Given the description of an element on the screen output the (x, y) to click on. 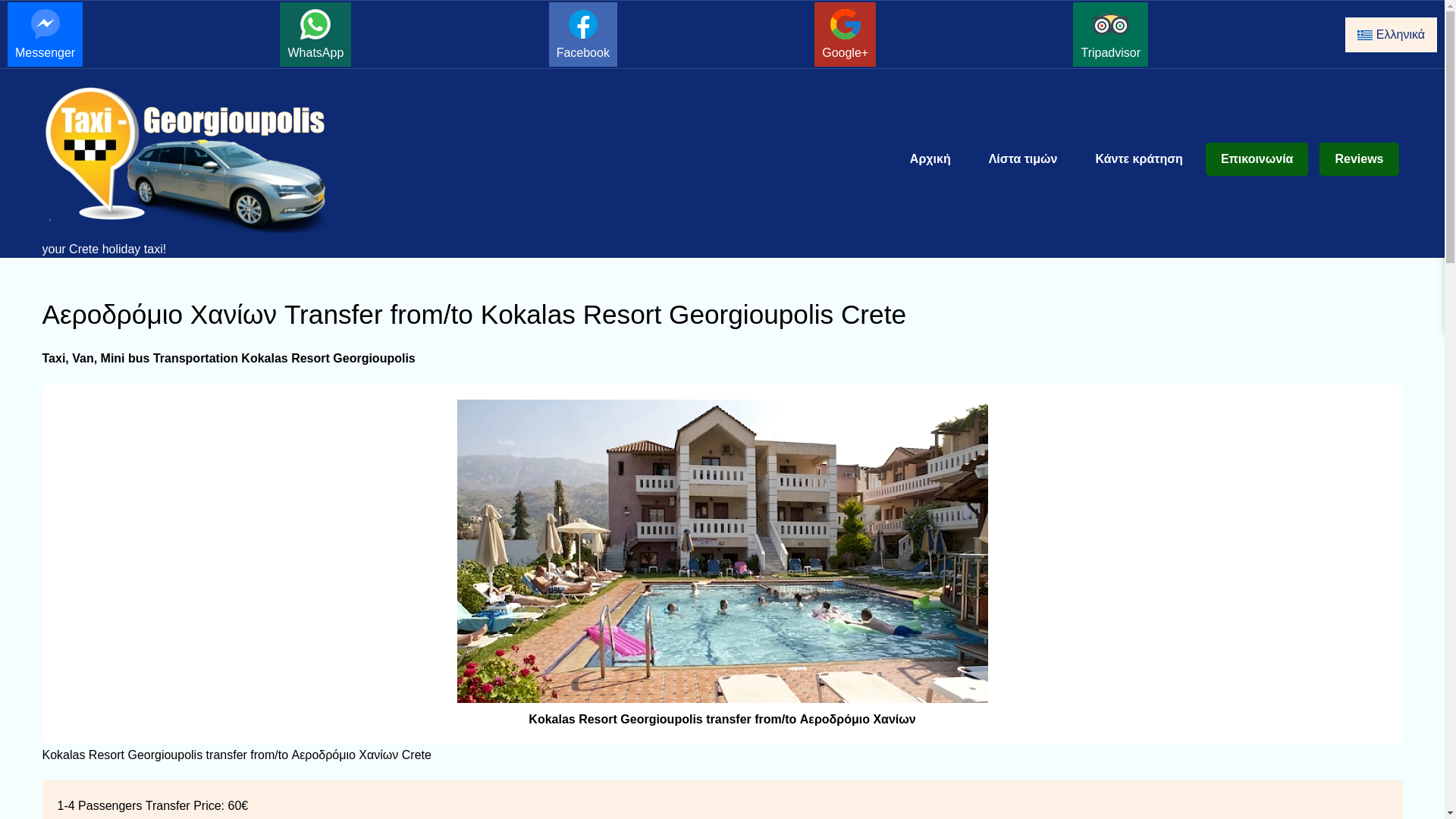
Contact Us with WhatsApp (314, 34)
Messenger (44, 34)
Contact Us with Messenger (44, 34)
Taxi Georgioupolis your Crete holiday taxi! (203, 171)
Contact Us with Facebook (582, 34)
Reviews (1358, 159)
Facebook (582, 34)
Contact Us with Tripadvisor (1110, 34)
your Crete holiday taxi! (203, 171)
Tripadvisor (1110, 34)
WhatsApp (314, 34)
